Given the description of an element on the screen output the (x, y) to click on. 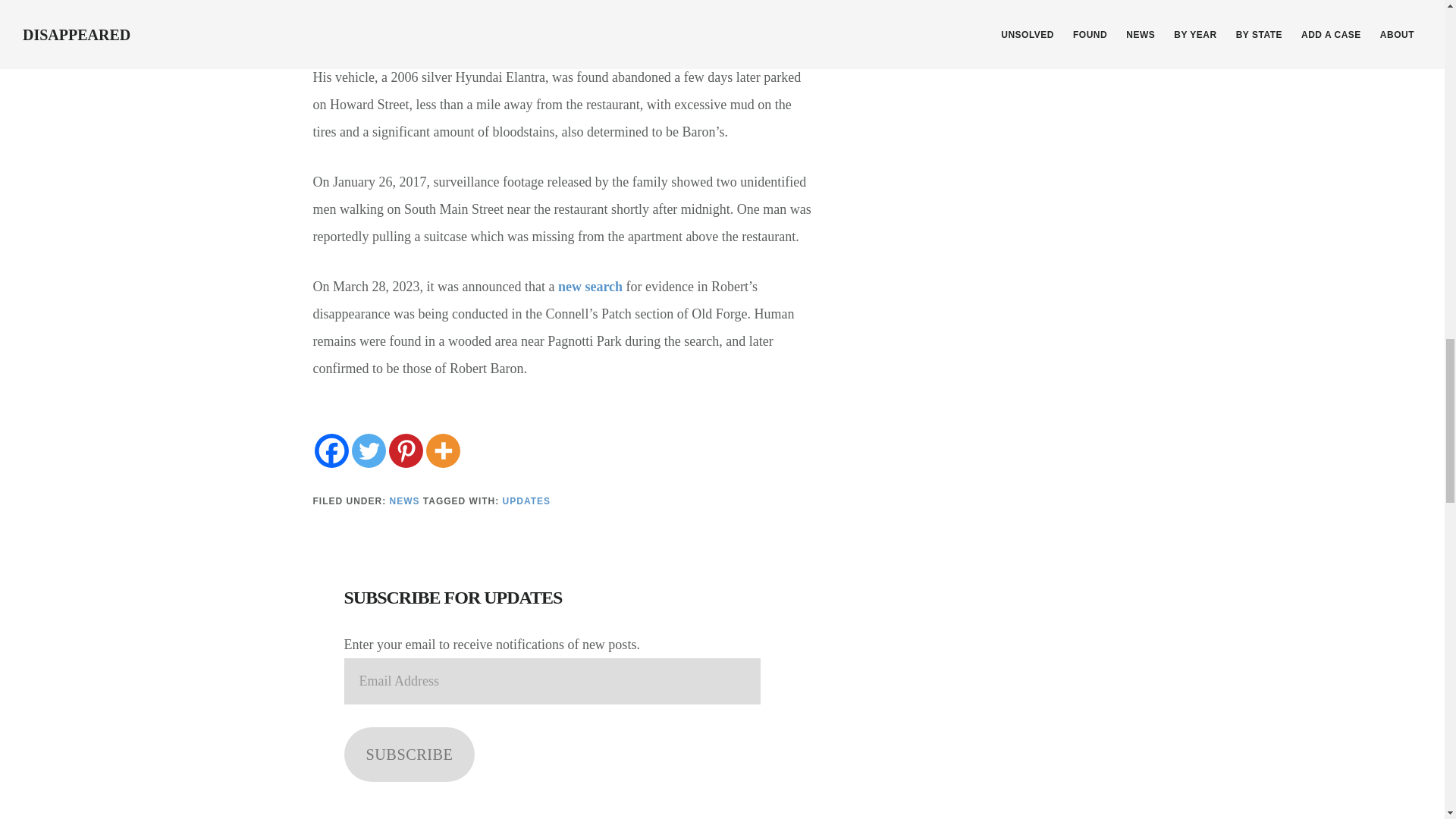
More (443, 450)
NEWS (405, 501)
SUBSCRIBE (409, 754)
Pinterest (405, 450)
Twitter (368, 450)
UPDATES (526, 501)
Facebook (330, 450)
new search (590, 286)
